Given the description of an element on the screen output the (x, y) to click on. 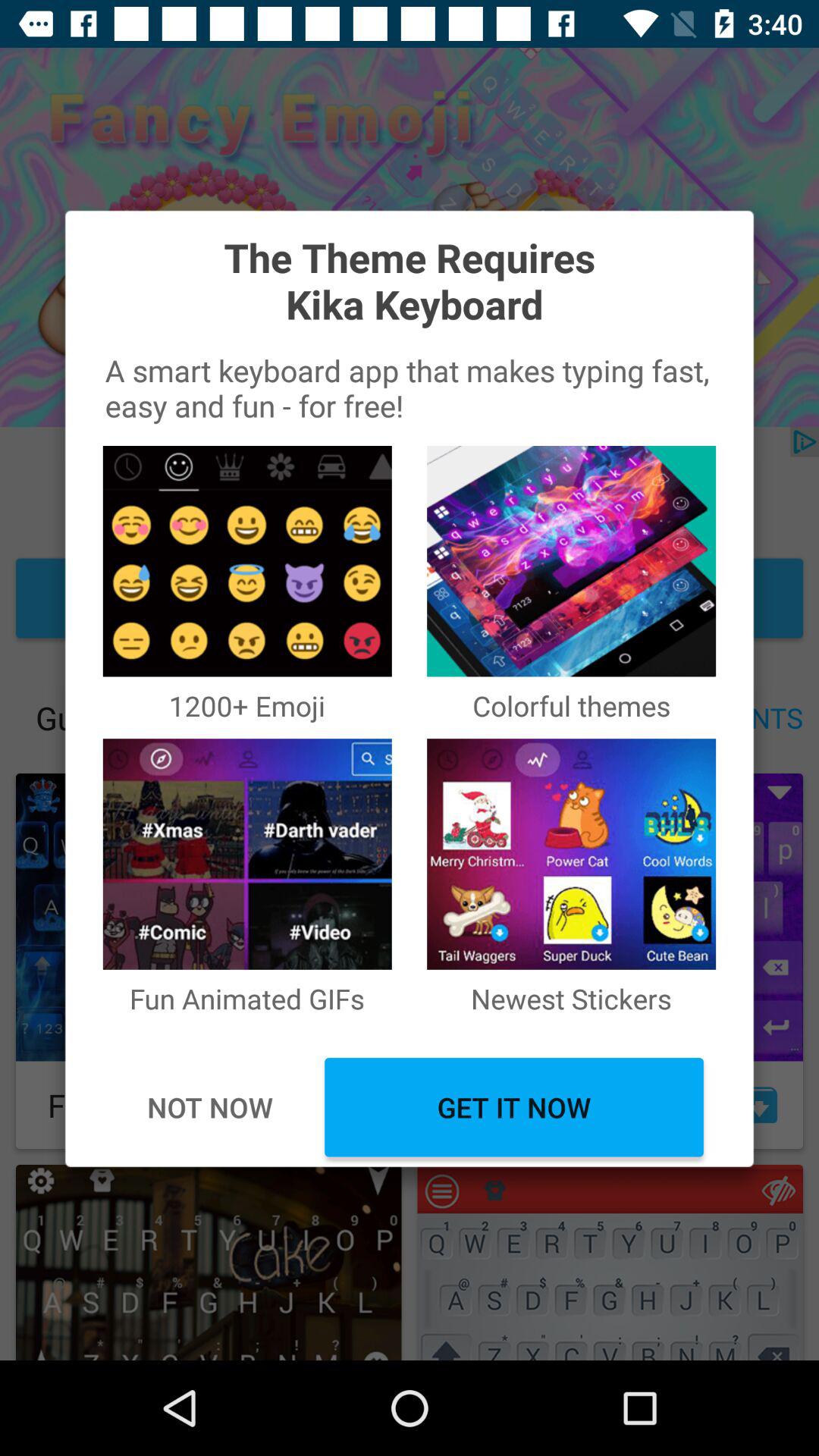
turn off not now icon (209, 1106)
